Given the description of an element on the screen output the (x, y) to click on. 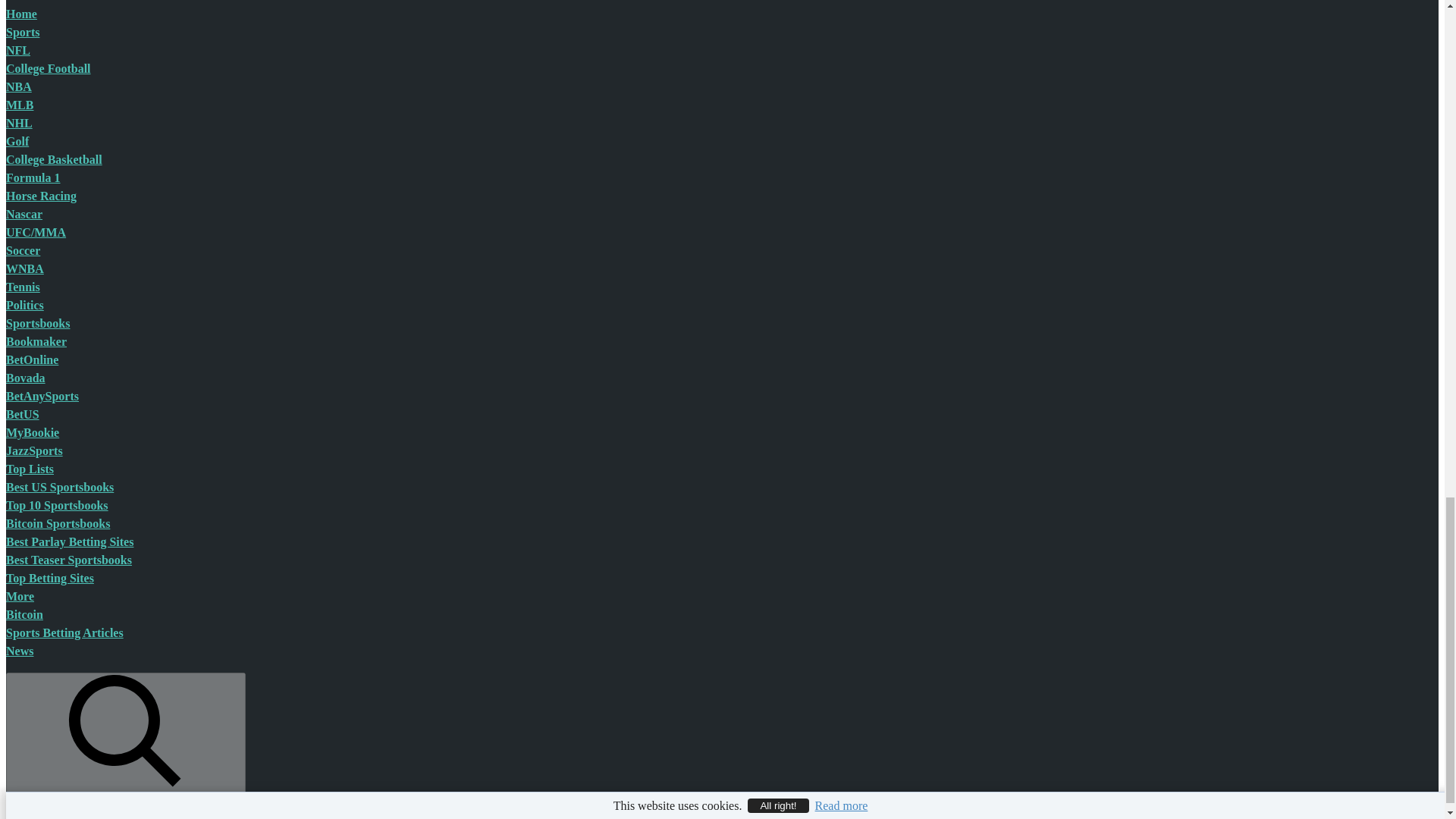
GamCare (215, 686)
BeGambleAware (103, 686)
GamStop (306, 686)
